Given the description of an element on the screen output the (x, y) to click on. 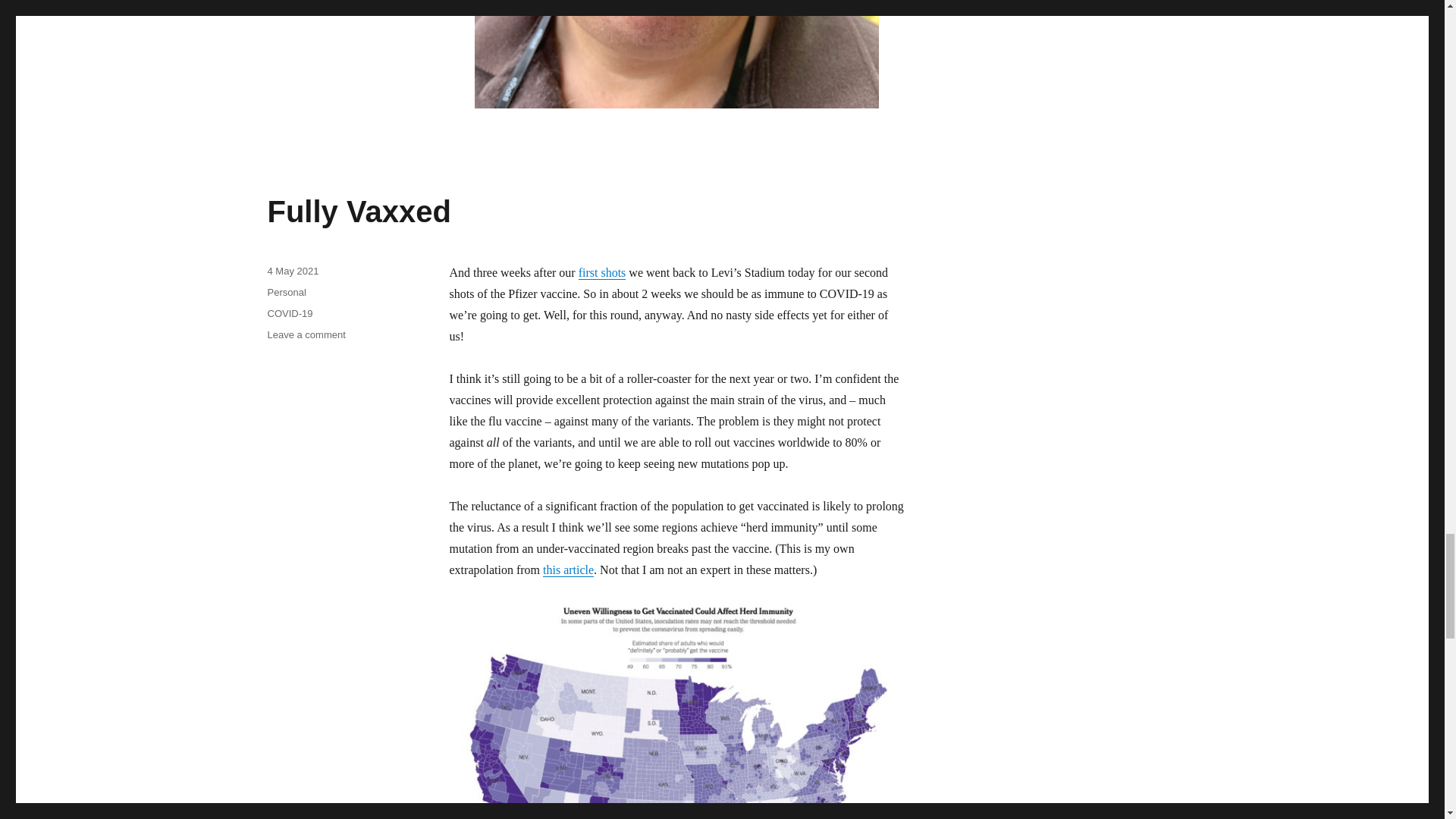
Personal (285, 292)
this article (568, 569)
4 May 2021 (292, 270)
Fully Vaxxed (357, 211)
first shots (602, 272)
COVID-19 (289, 313)
